Given the description of an element on the screen output the (x, y) to click on. 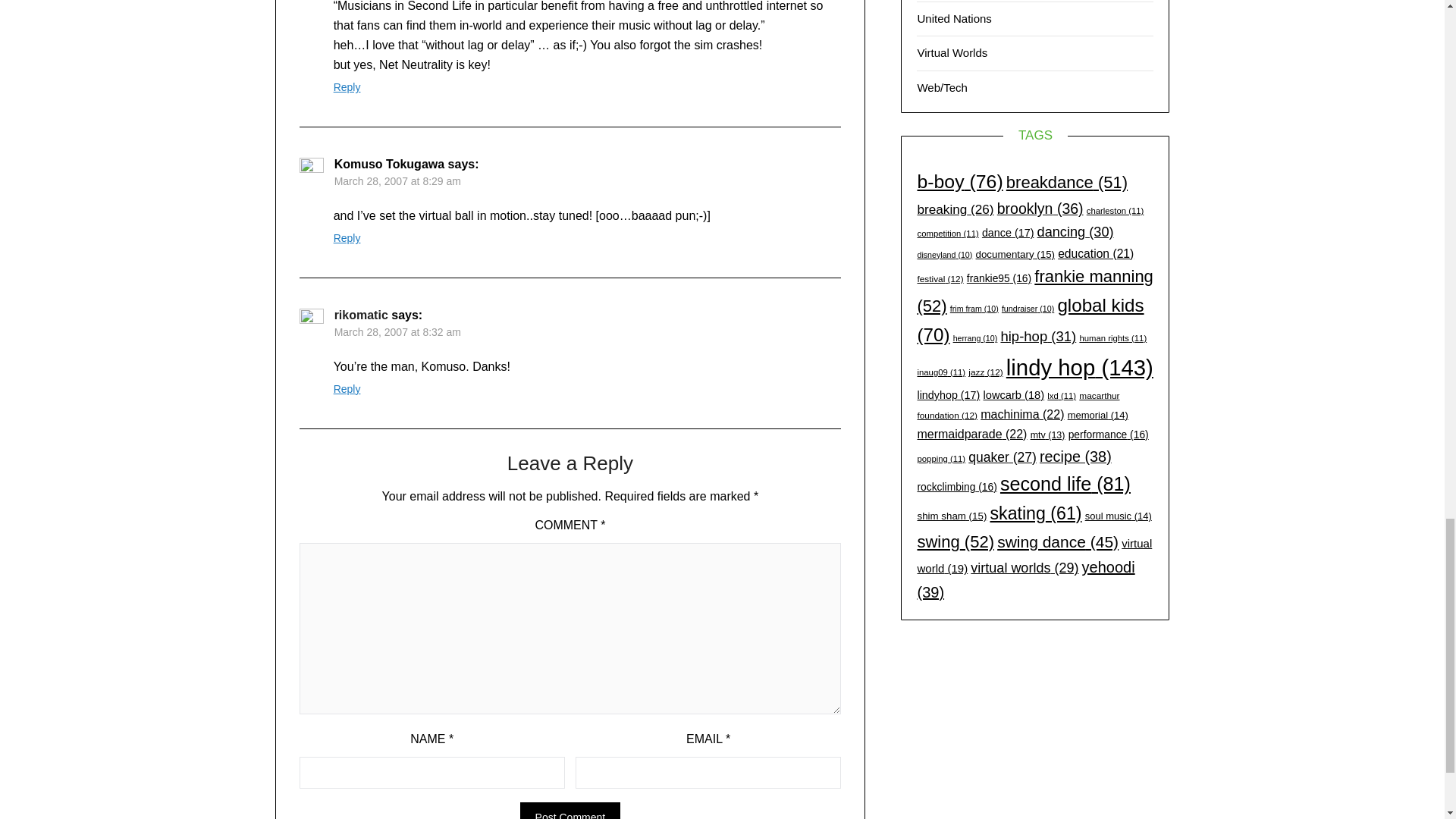
March 28, 2007 at 8:32 am (397, 331)
Post Comment (570, 810)
Post Comment (570, 810)
rikomatic (361, 314)
March 28, 2007 at 8:29 am (397, 181)
Reply (347, 237)
Reply (347, 388)
Reply (347, 87)
